Given the description of an element on the screen output the (x, y) to click on. 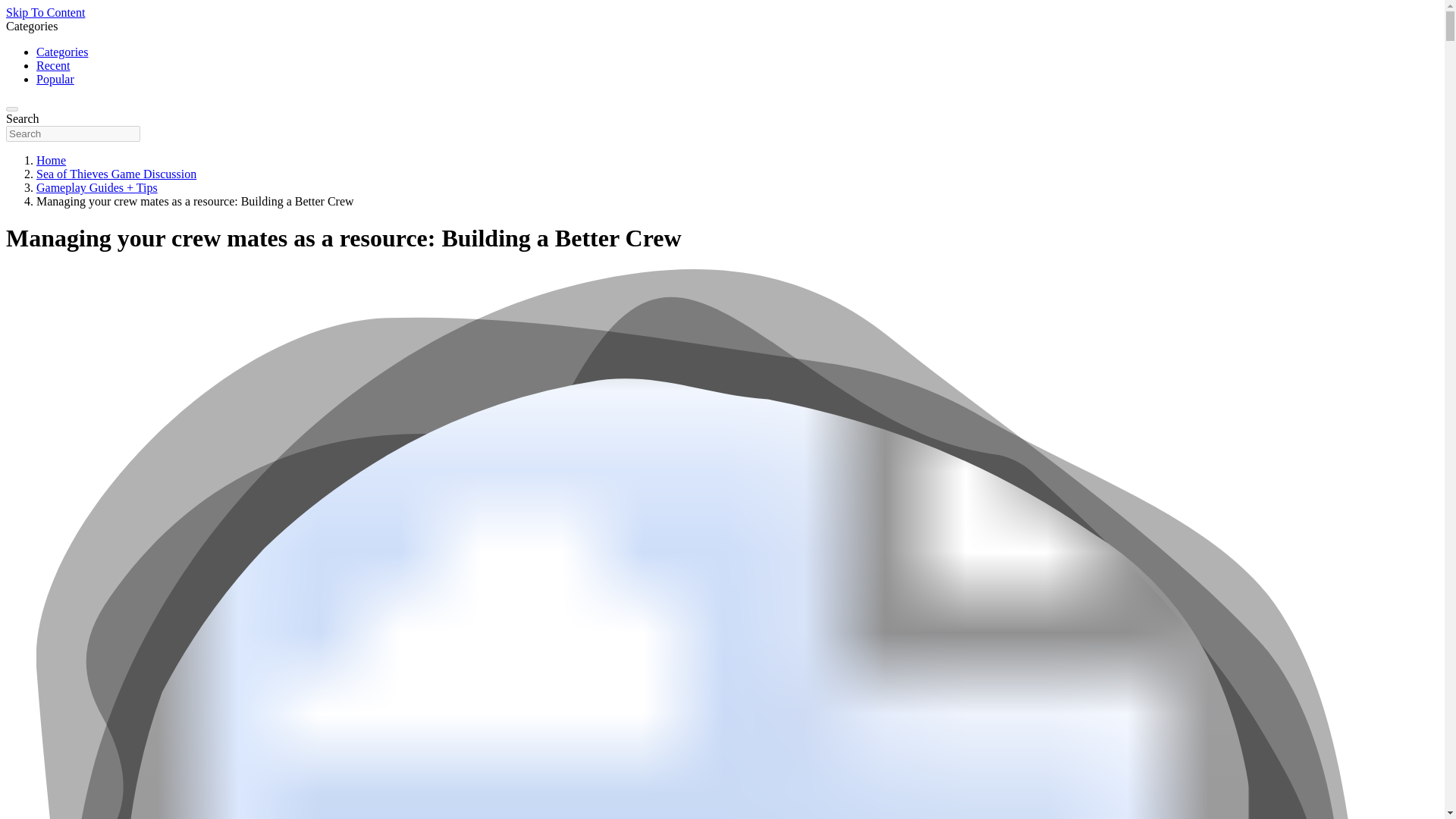
Recent (52, 65)
Sea of Thieves Game Discussion (116, 173)
Categories (61, 51)
Sea of Thieves Game Discussion (116, 173)
Home (50, 160)
Home (50, 160)
Popular (55, 78)
Skip To Content (44, 11)
